Given the description of an element on the screen output the (x, y) to click on. 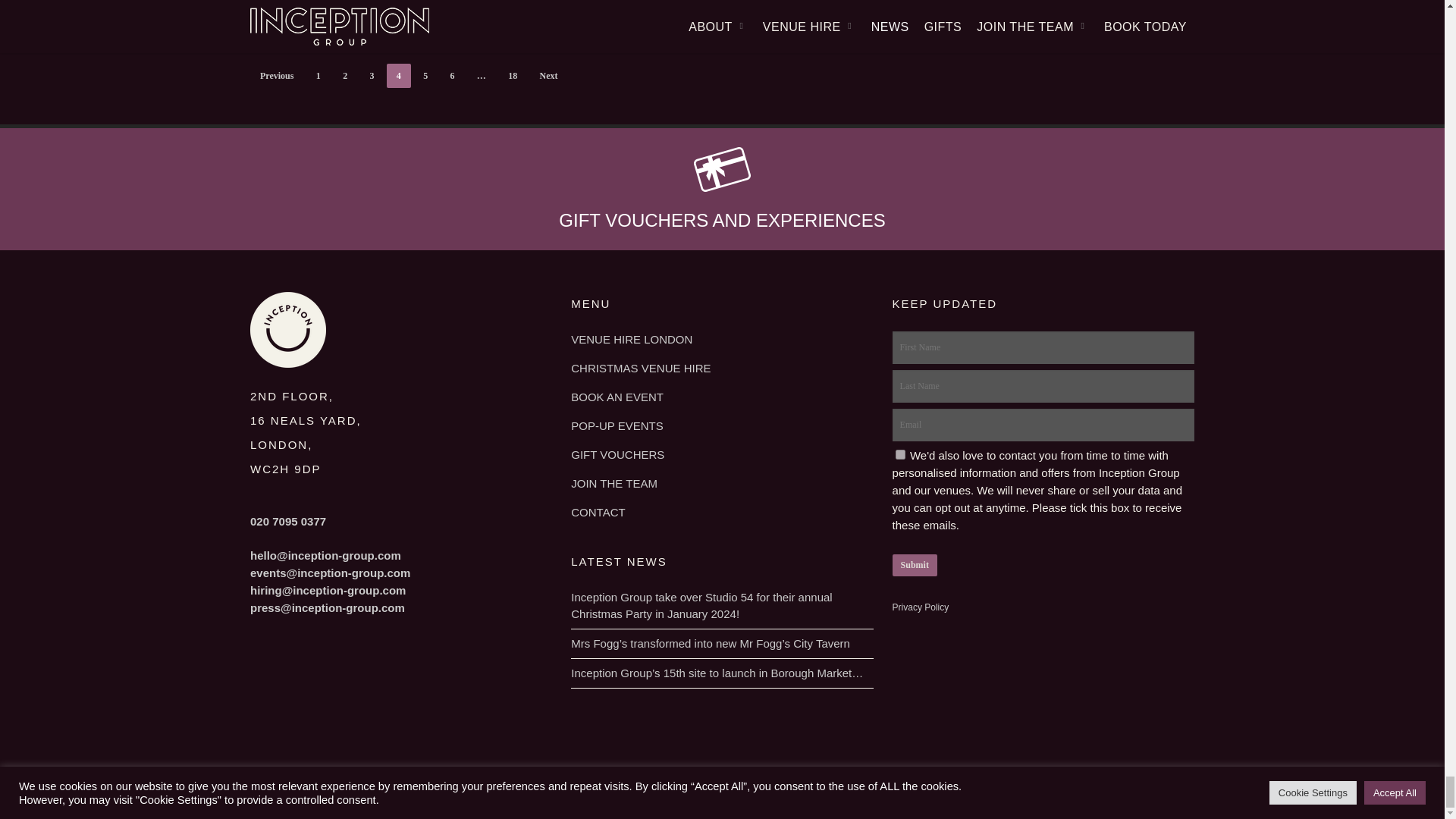
Yes (900, 454)
Submit (914, 565)
